Given the description of an element on the screen output the (x, y) to click on. 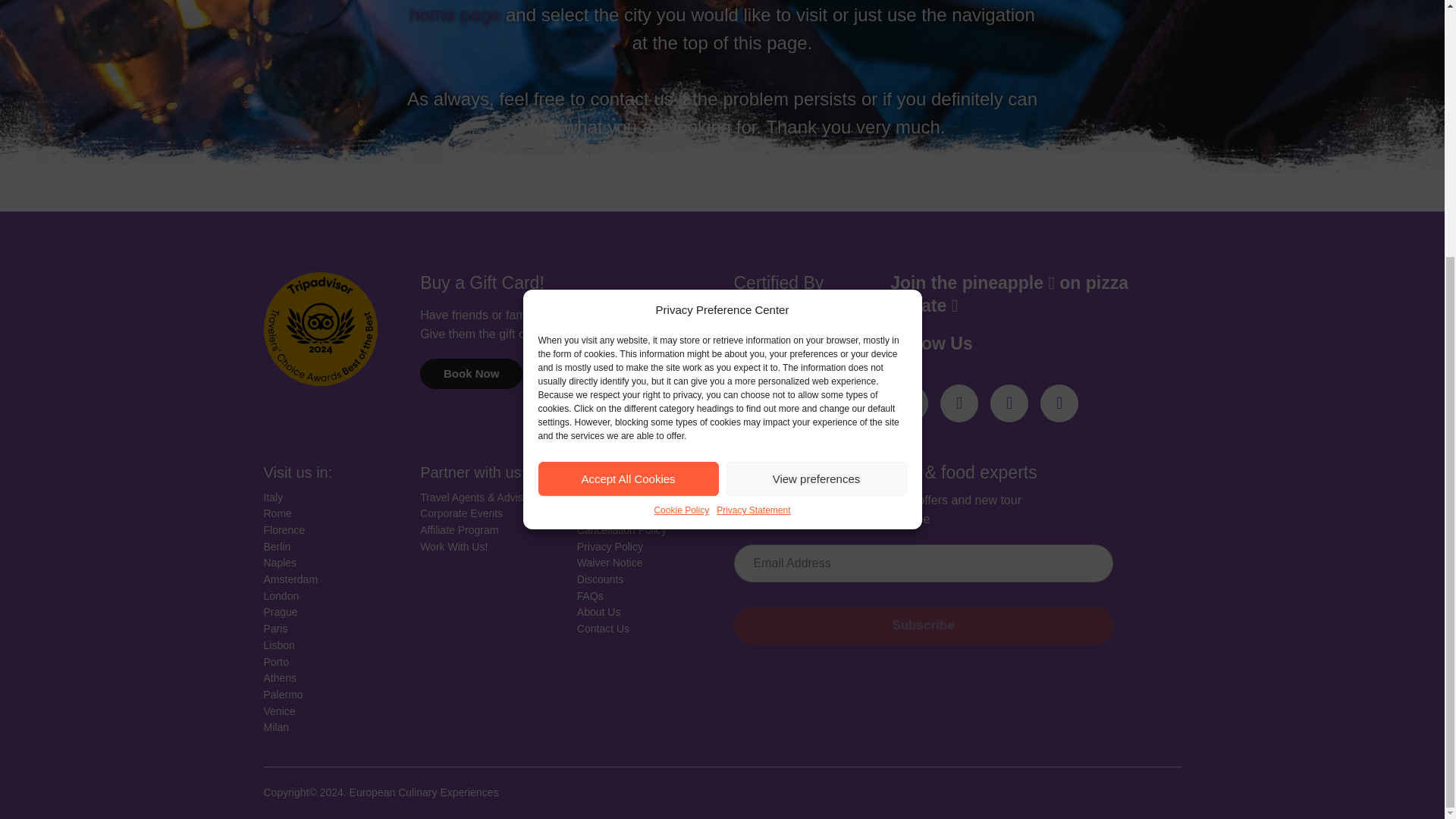
View preferences (816, 114)
Privacy Statement (753, 145)
Cookie Policy (681, 145)
Accept All Cookies (628, 114)
